Given the description of an element on the screen output the (x, y) to click on. 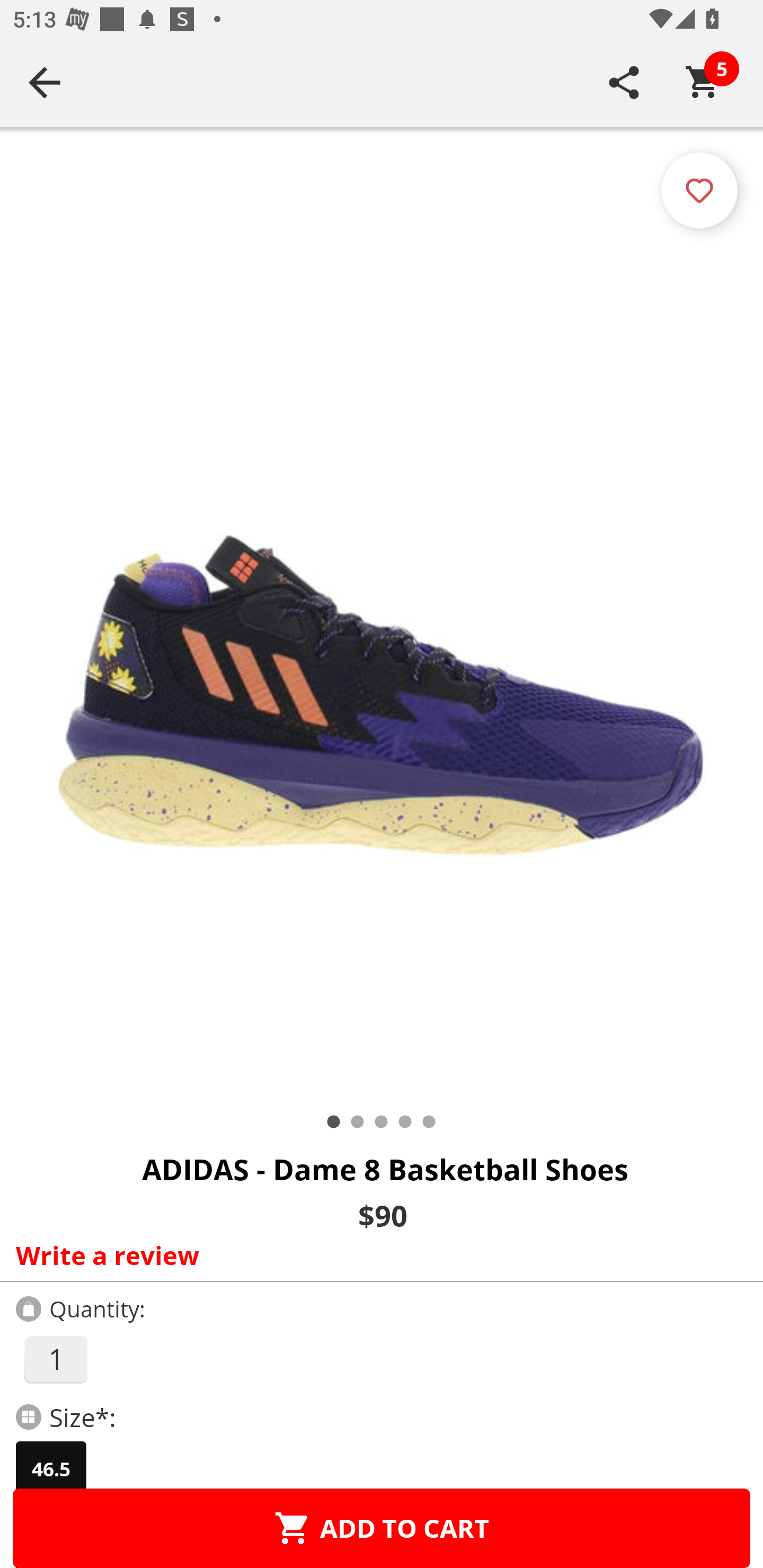
Navigate up (44, 82)
SHARE (623, 82)
Cart (703, 81)
Write a review (377, 1255)
1 (55, 1358)
46.5 (51, 1468)
ADD TO CART (381, 1528)
